Given the description of an element on the screen output the (x, y) to click on. 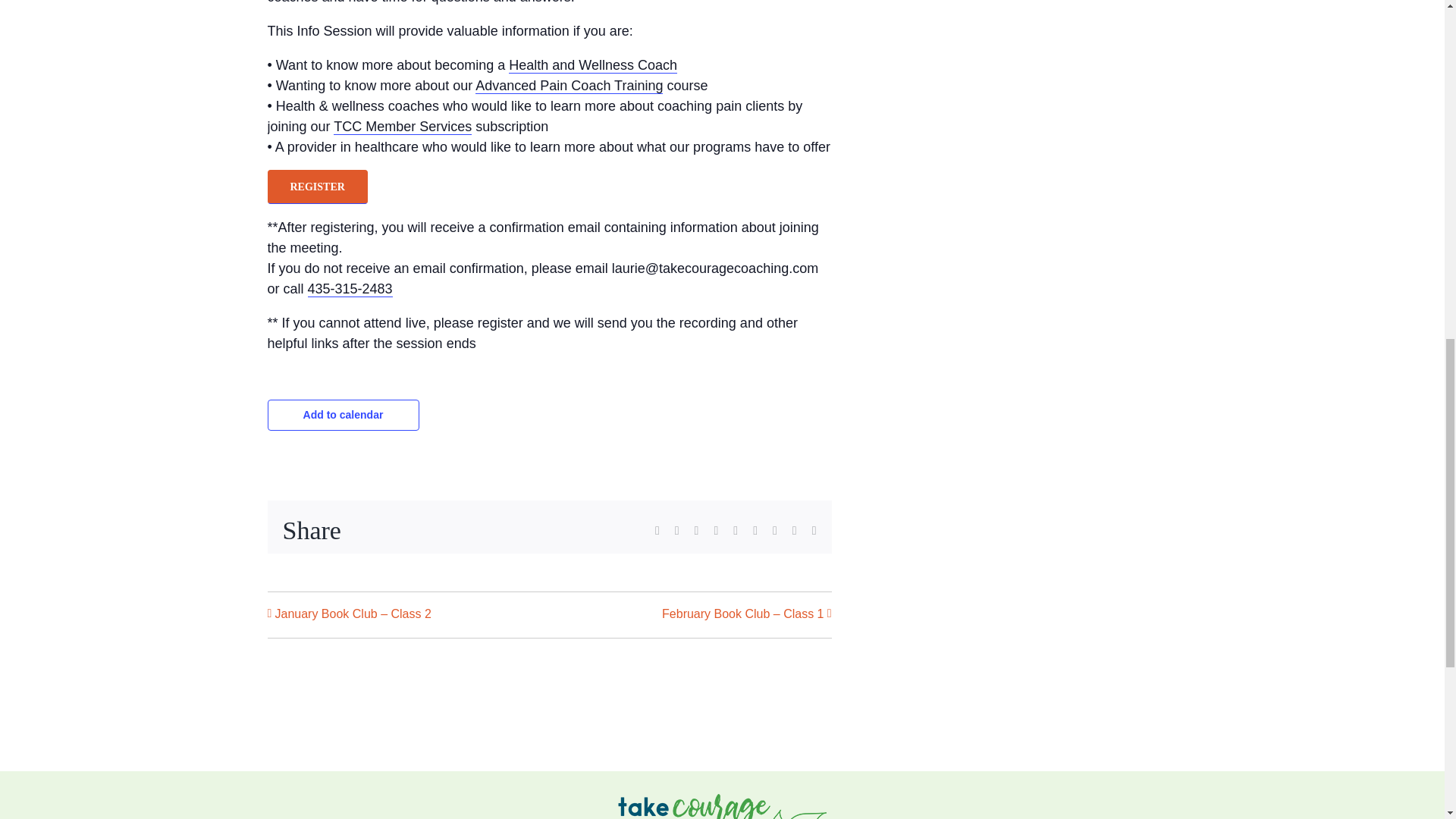
435-315-2483 (350, 289)
Add to calendar (343, 414)
Health and Wellness Coach (592, 65)
REGISTER (316, 186)
Advanced Pain Coach Training (569, 85)
TCC Member Services (402, 126)
